Given the description of an element on the screen output the (x, y) to click on. 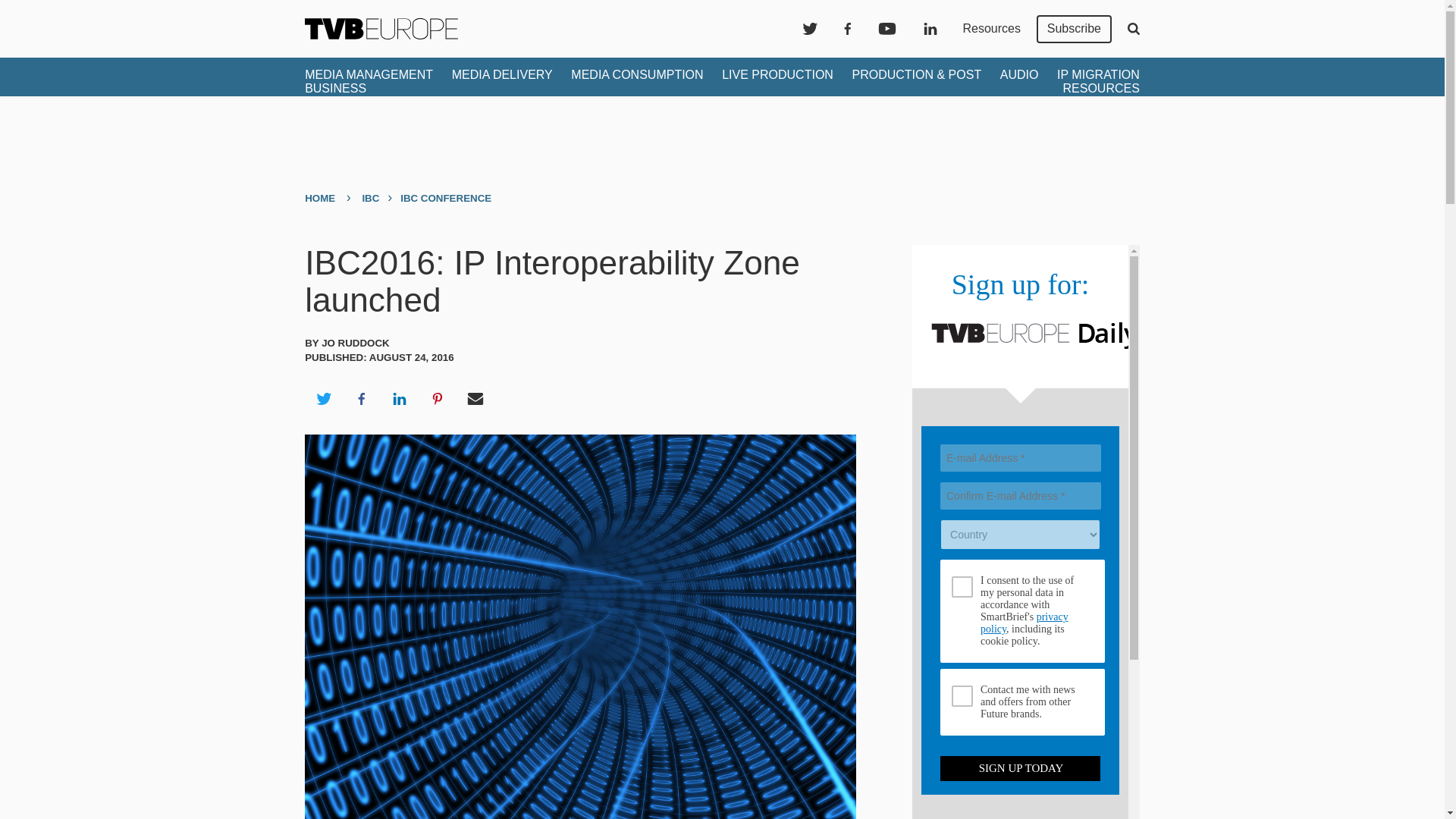
Jo Ruddock's Author Profile (355, 342)
Share on Twitter (323, 398)
Share on LinkedIn (399, 398)
Share on Pinterest (438, 398)
Share on Facebook (361, 398)
Share via Email (476, 398)
